Given the description of an element on the screen output the (x, y) to click on. 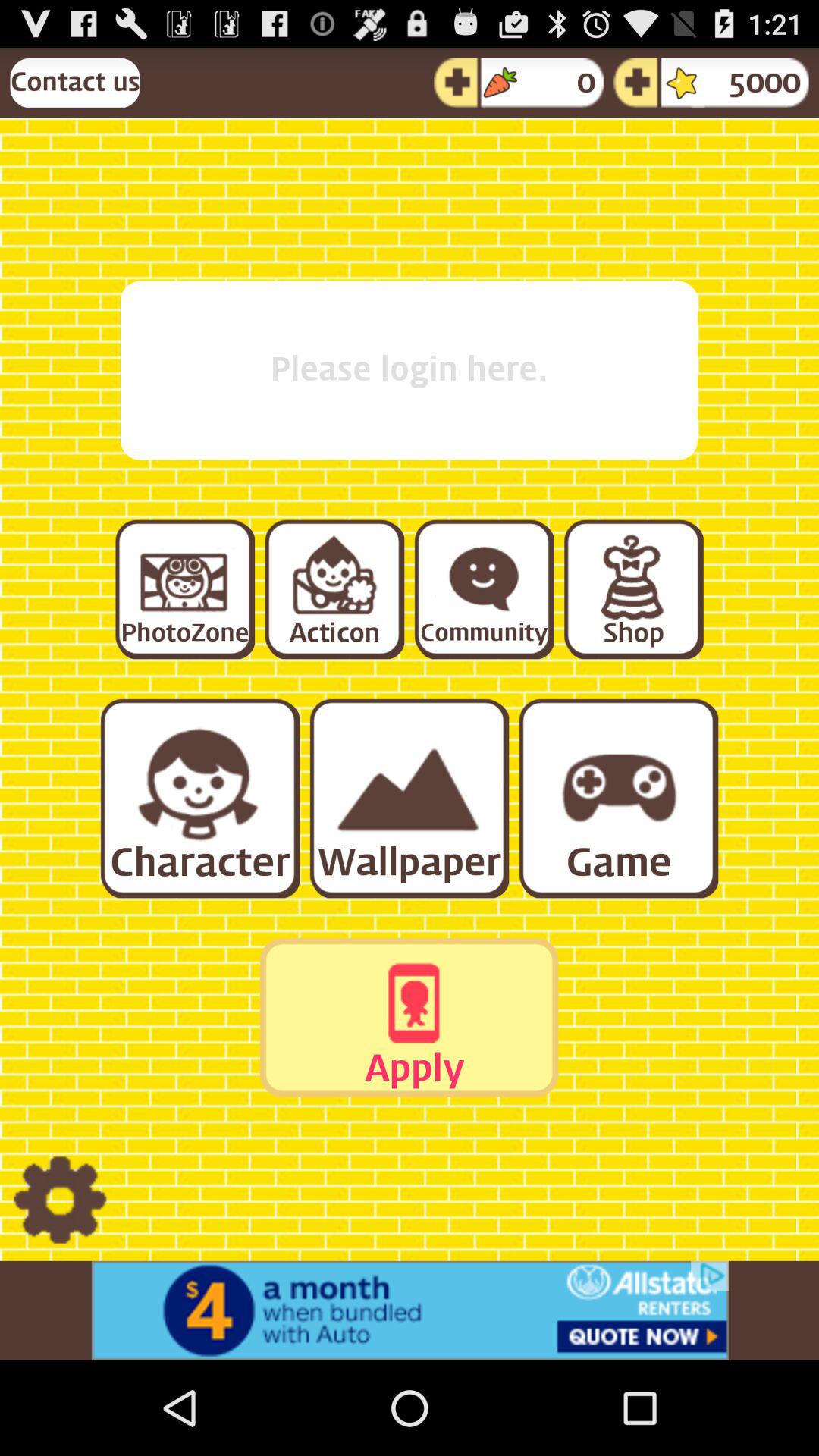
character (199, 797)
